Given the description of an element on the screen output the (x, y) to click on. 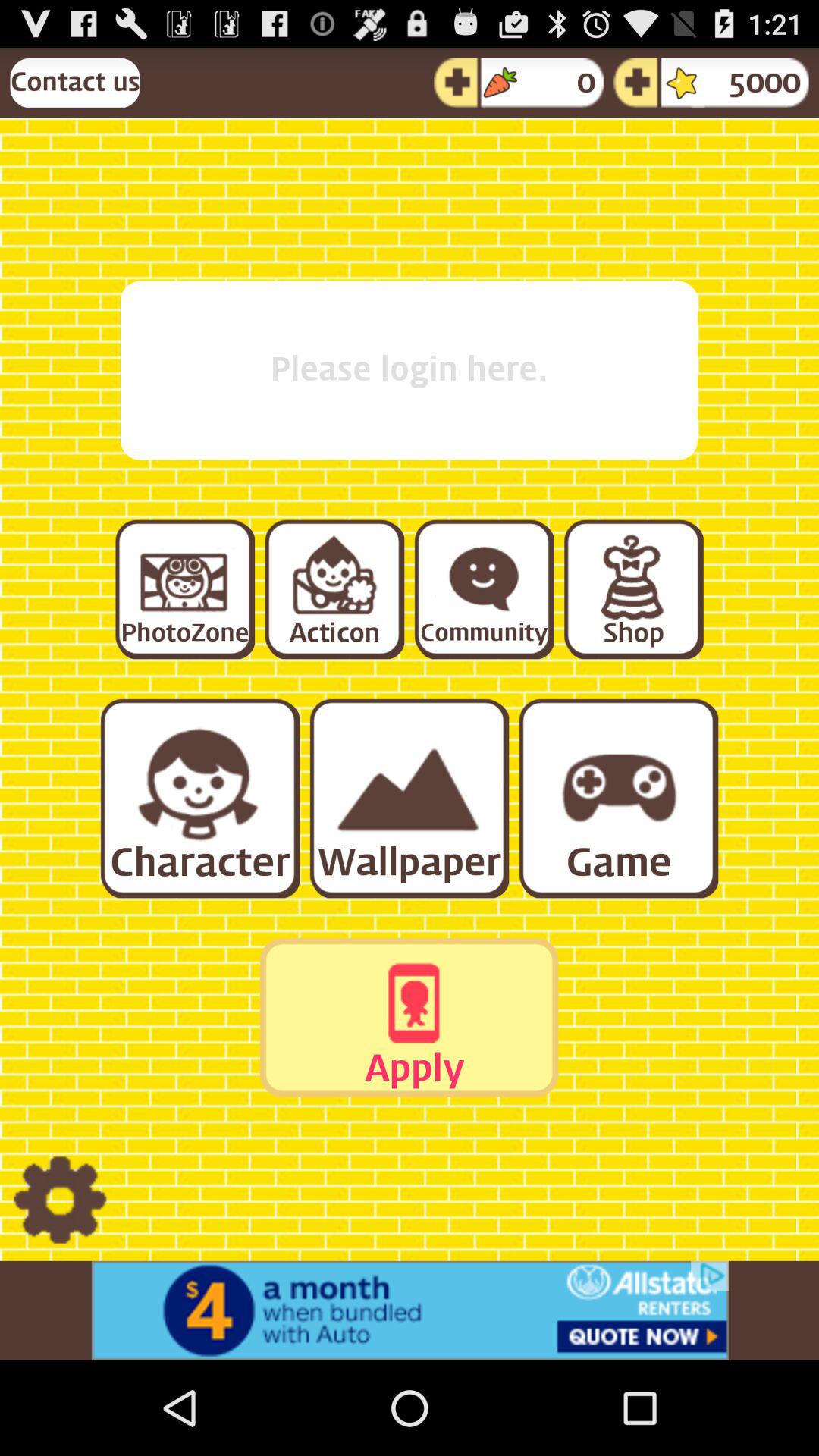
character (199, 797)
